Given the description of an element on the screen output the (x, y) to click on. 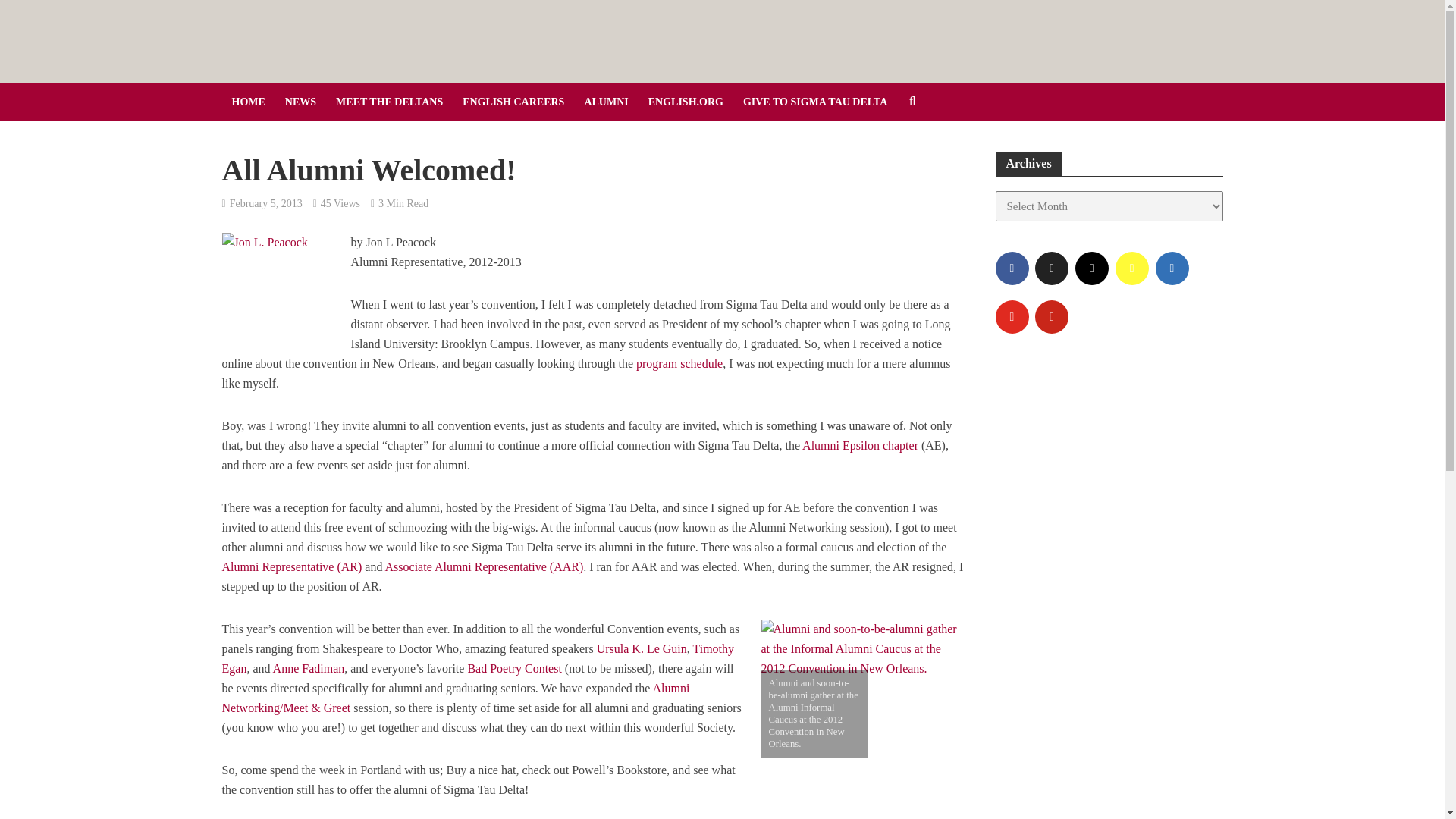
program schedule (679, 365)
HOME (248, 102)
NEWS (300, 102)
GIVE TO SIGMA TAU DELTA (814, 102)
Facebook (1010, 268)
MEET THE DELTANS (389, 102)
ALUMNI (605, 102)
Instagram (1091, 268)
Pinterest (1051, 316)
Ursula K. Le Guin (641, 650)
